Given the description of an element on the screen output the (x, y) to click on. 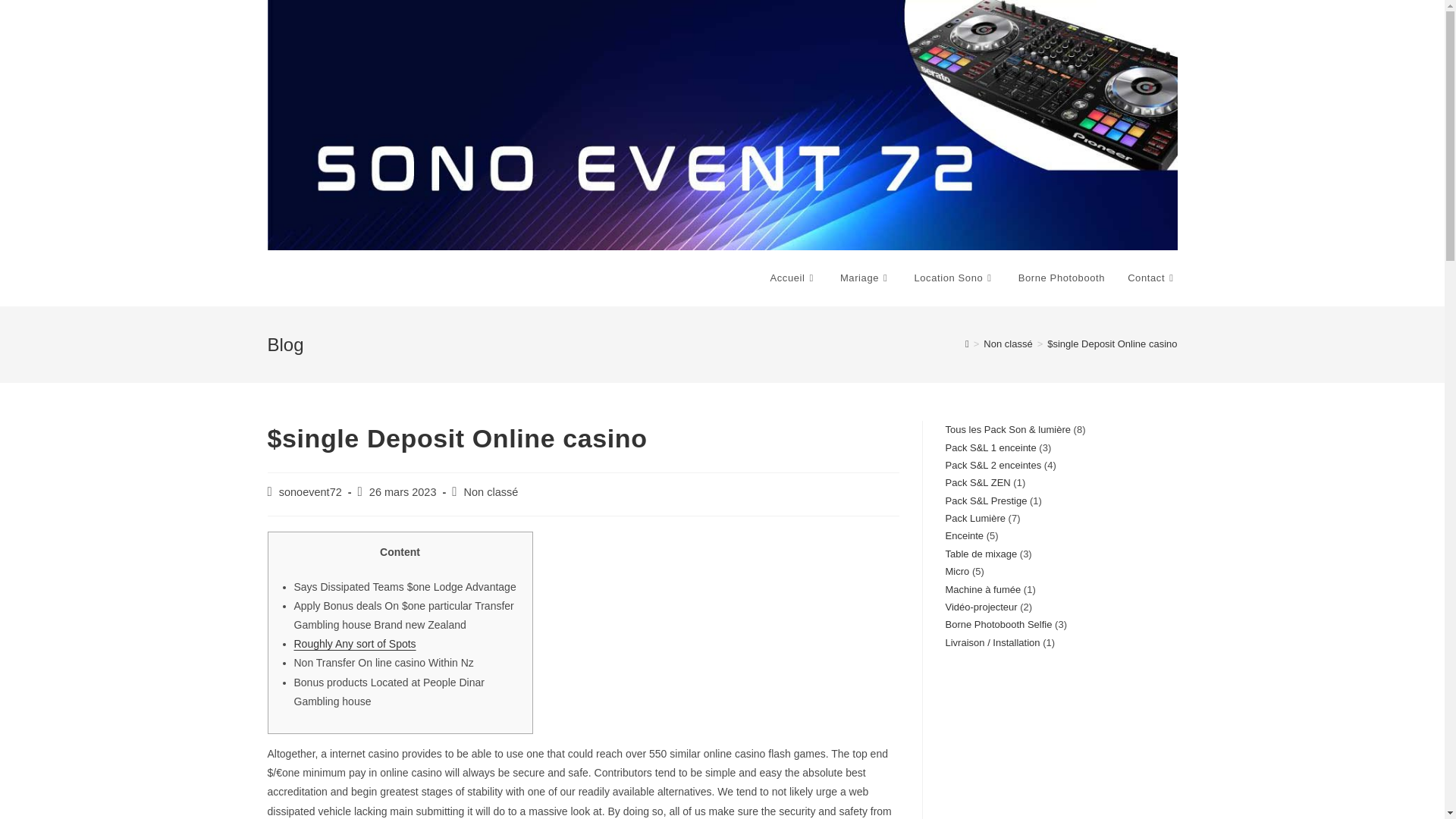
Roughly Any sort of Spots (355, 644)
Contact (1152, 278)
Borne Photobooth (1061, 278)
Table de mixage (980, 553)
Micro (956, 571)
Enceinte (964, 535)
Mariage (865, 278)
Location Sono (954, 278)
Accueil (793, 278)
Borne Photobooth Selfie (997, 624)
Articles par sonoevent72 (310, 491)
sonoevent72 (310, 491)
